Given the description of an element on the screen output the (x, y) to click on. 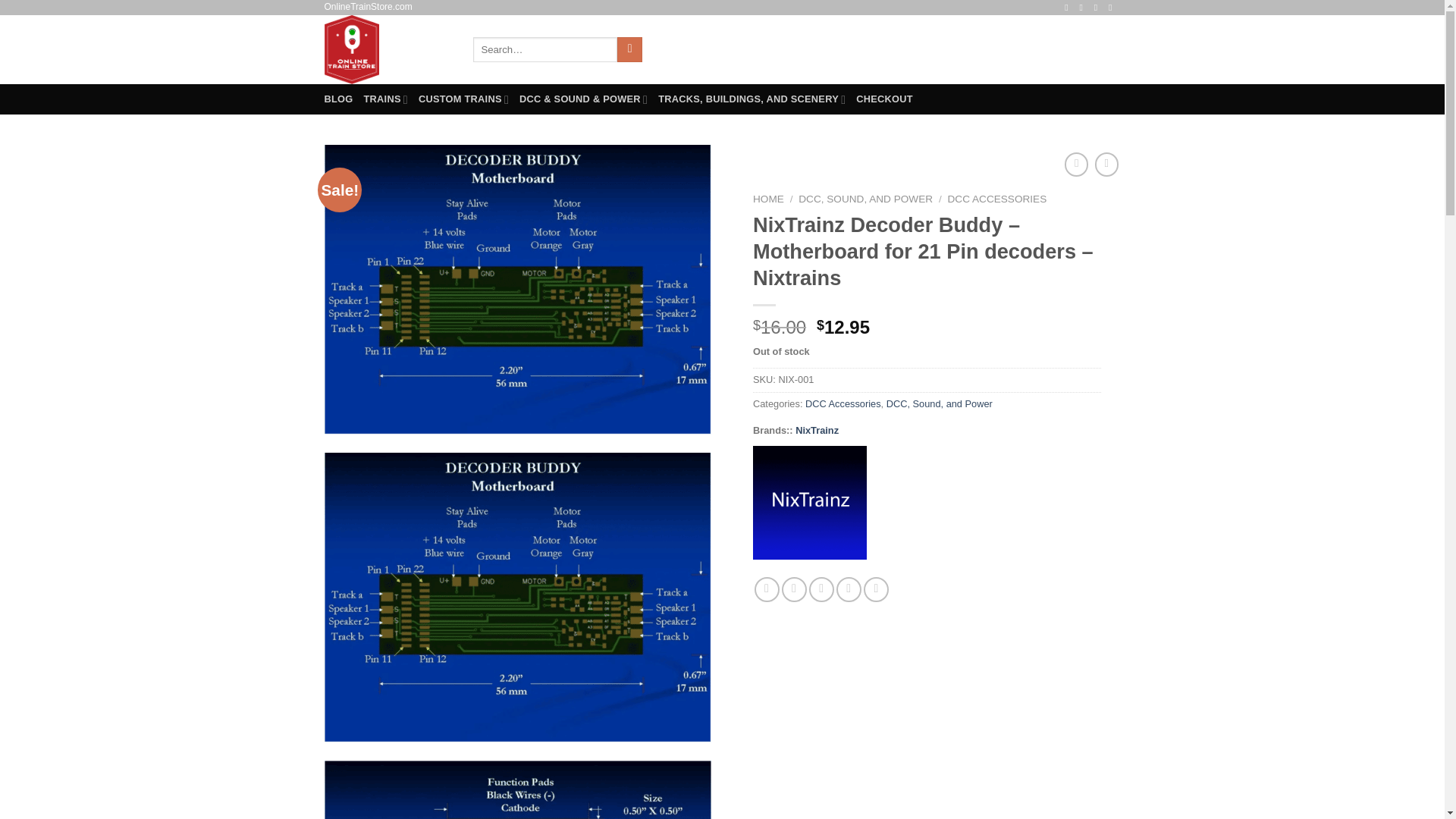
Share on Twitter (793, 589)
BLOG (338, 99)
Pin on Pinterest (848, 589)
Login (961, 49)
Search (629, 49)
Share on Facebook (766, 589)
Email to a Friend (821, 589)
TRAINS (385, 99)
TRACKS, BUILDINGS, AND SCENERY (751, 99)
CUSTOM TRAINS (463, 99)
CHECKOUT (884, 99)
Cart (1074, 49)
